Given the description of an element on the screen output the (x, y) to click on. 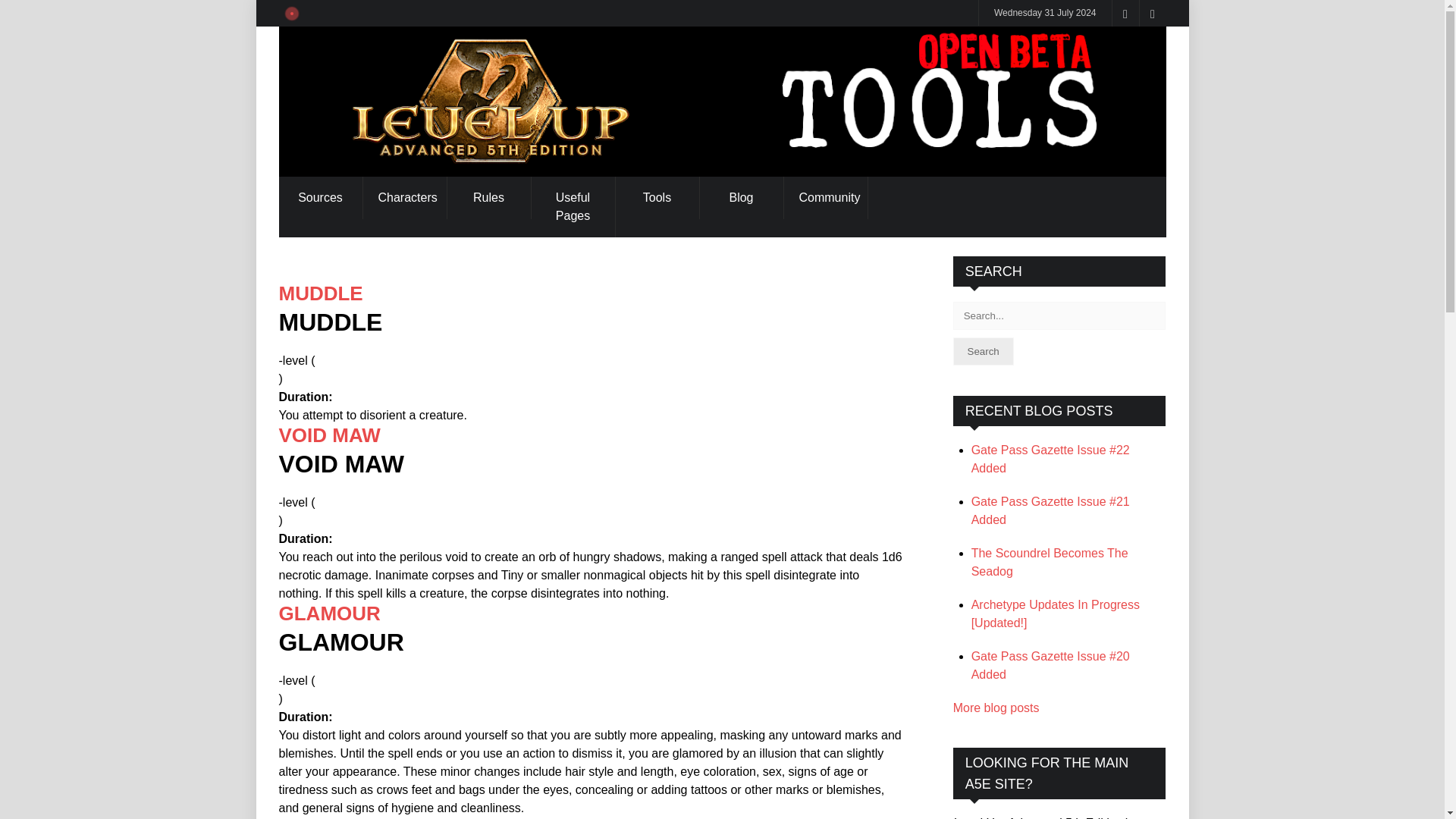
Sources (320, 197)
Search (983, 351)
Rules (488, 197)
Characters (403, 197)
Enter the terms you wish to search for. (1059, 316)
Level Up (722, 101)
